Given the description of an element on the screen output the (x, y) to click on. 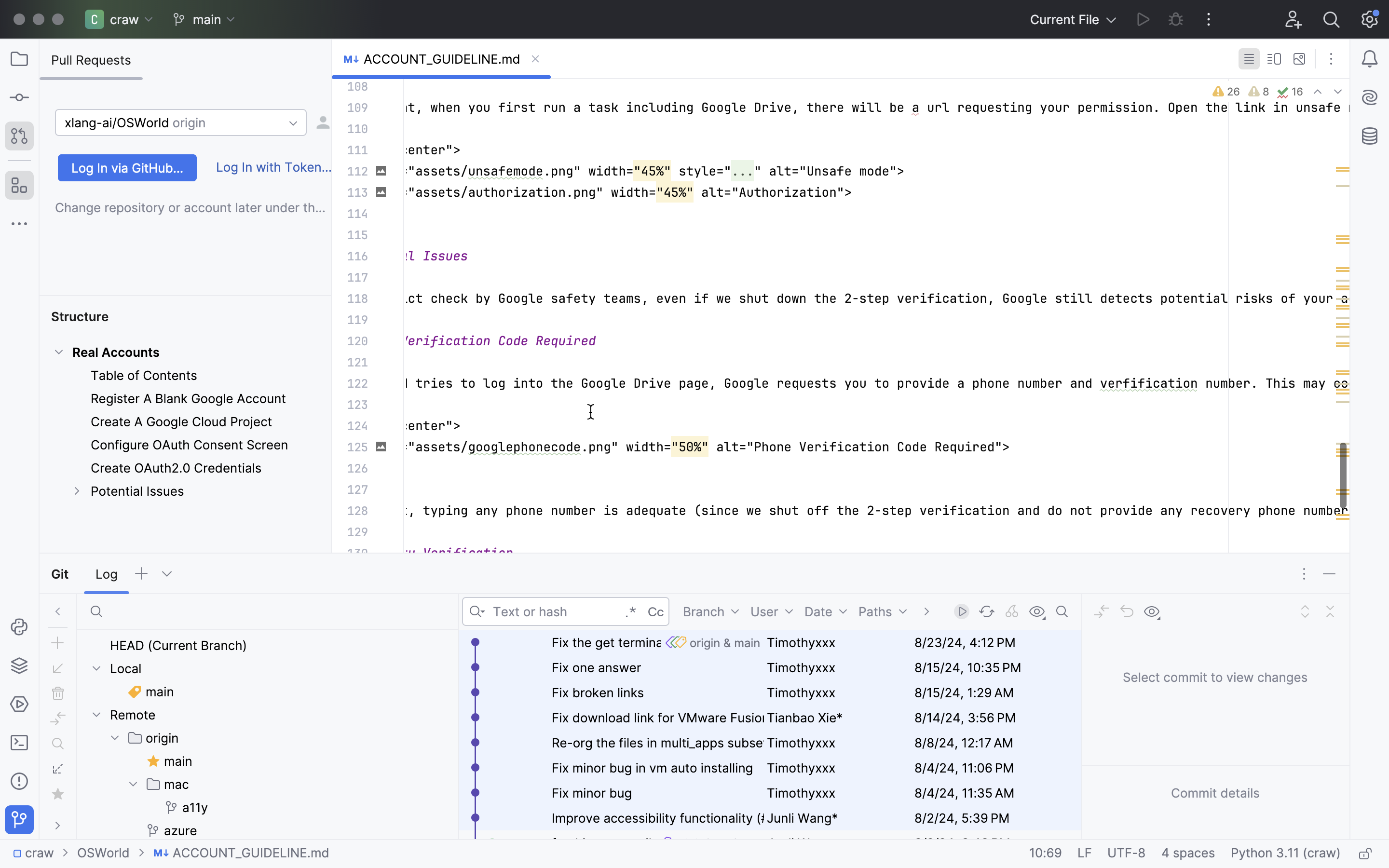
Make file read-only Element type: AXStaticText (1363, 854)
8 Element type: AXStaticText (1257, 91)
